Given the description of an element on the screen output the (x, y) to click on. 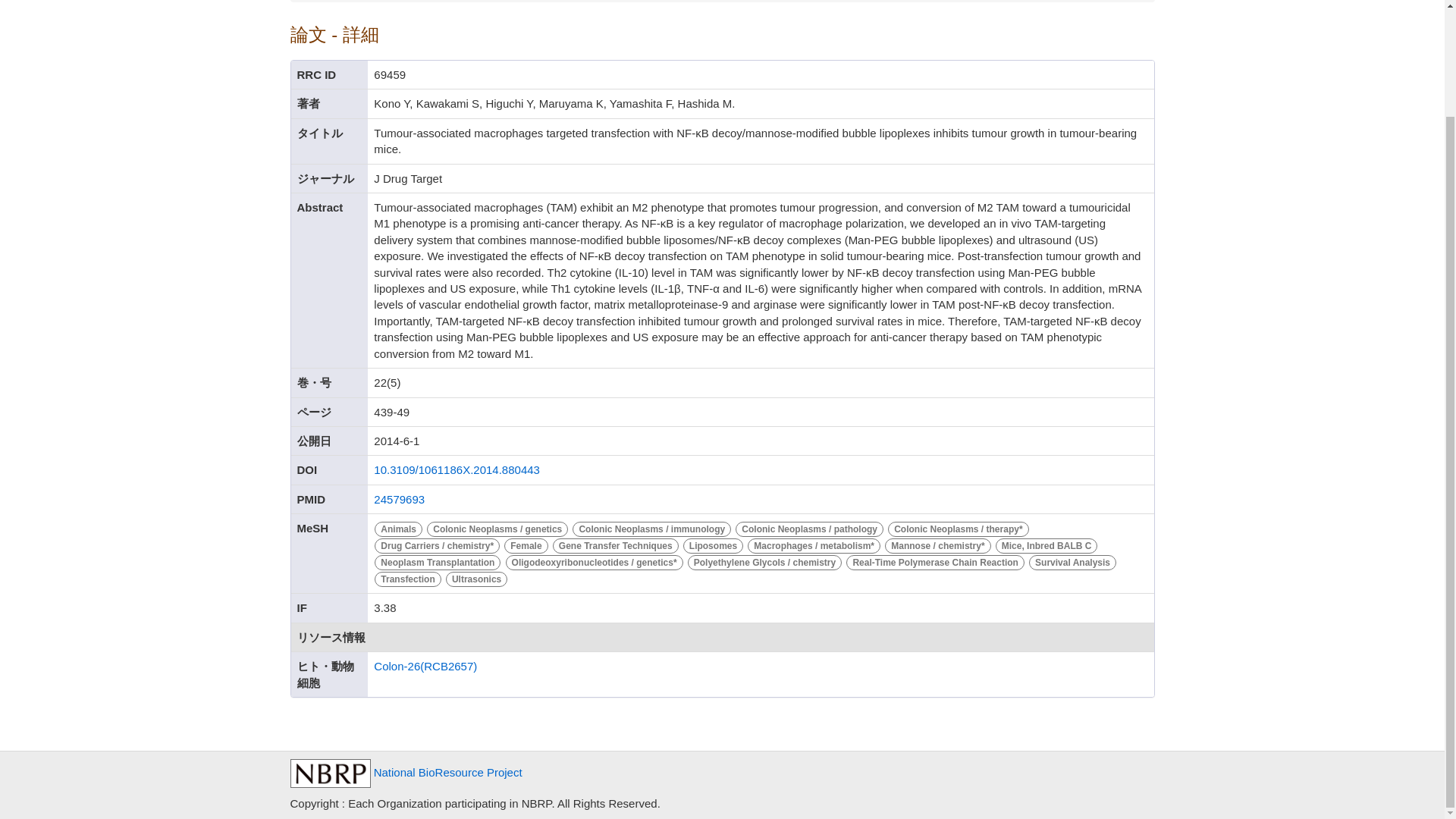
Neoplasm Transplantation (438, 561)
Survival Analysis (1071, 561)
Transfection (409, 577)
Female (527, 544)
National BioResource Project (405, 771)
Ultrasonics (476, 577)
Real-Time Polymerase Chain Reaction (936, 561)
Liposomes (715, 544)
Gene Transfer Techniques (616, 544)
24579693 (399, 499)
Animals (400, 527)
Mice, Inbred BALB C (1046, 544)
